Given the description of an element on the screen output the (x, y) to click on. 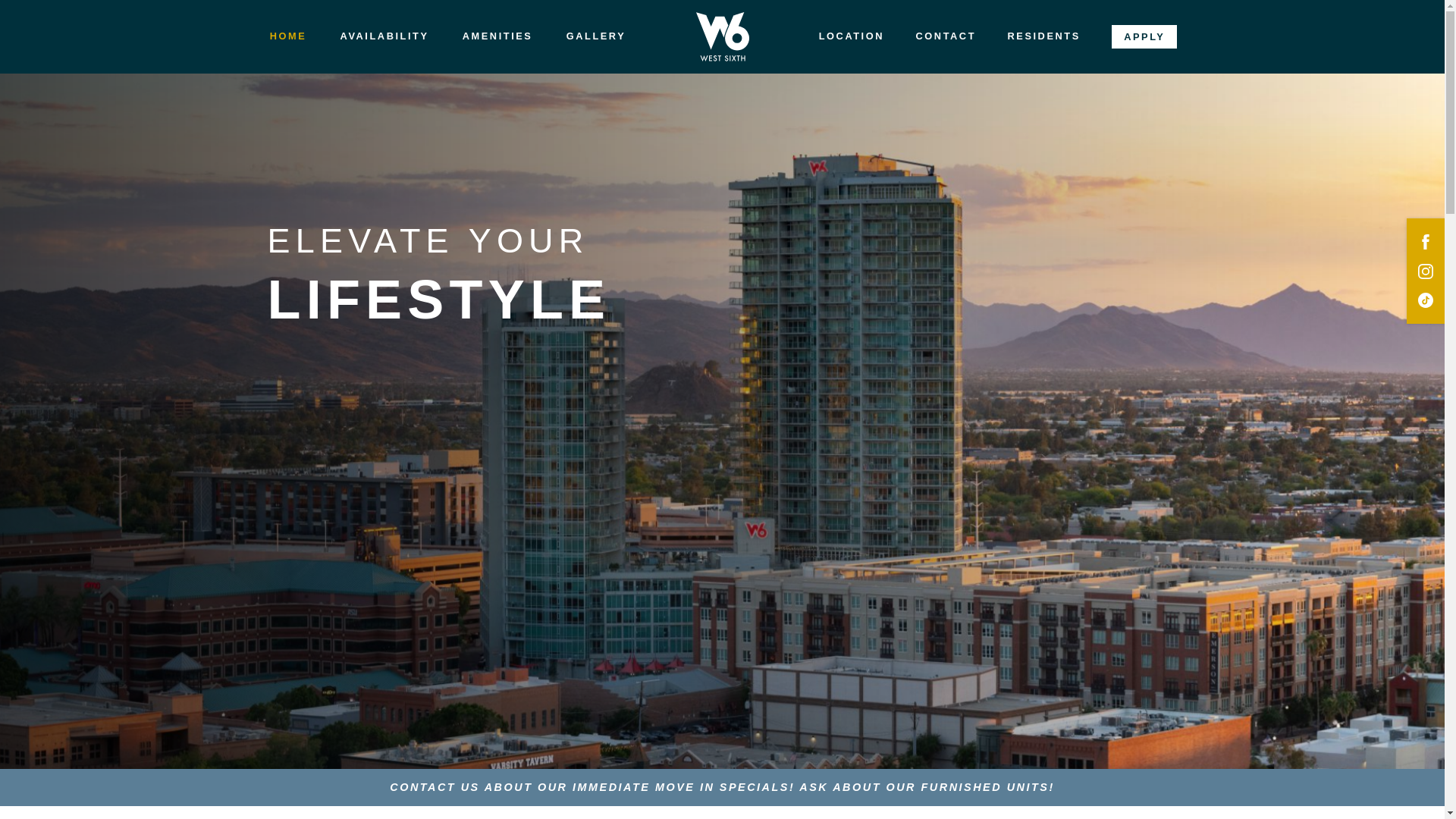
AMENITIES (497, 36)
HOME (287, 36)
AVAILABILITY (383, 36)
GALLERY (596, 36)
RESIDENTS (1043, 36)
APPLY (1144, 37)
CONTACT (945, 36)
LOCATION (850, 36)
